Given the description of an element on the screen output the (x, y) to click on. 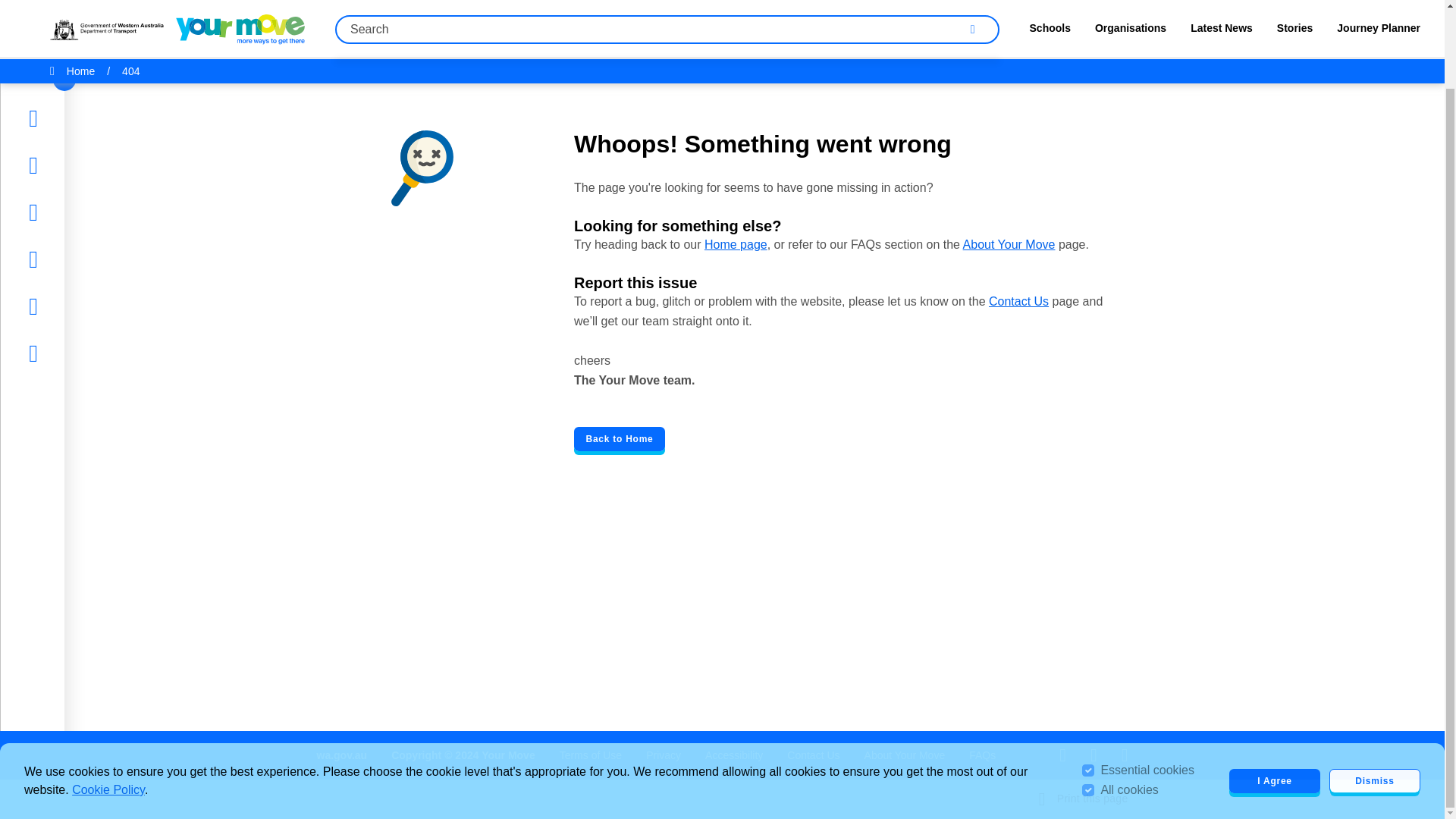
Home (59, 29)
toggle side navigation (63, 1)
Latest News (77, 124)
About Your Move (904, 755)
Stories (61, 77)
Print this page (1083, 799)
Terms of Use (590, 755)
About Your Move (1008, 244)
Back to Home (619, 438)
Accessibility (733, 755)
Cookie Policy (107, 701)
Contact Us (813, 755)
Journey Planner (87, 218)
Privacy (663, 755)
Home page (735, 244)
